Given the description of an element on the screen output the (x, y) to click on. 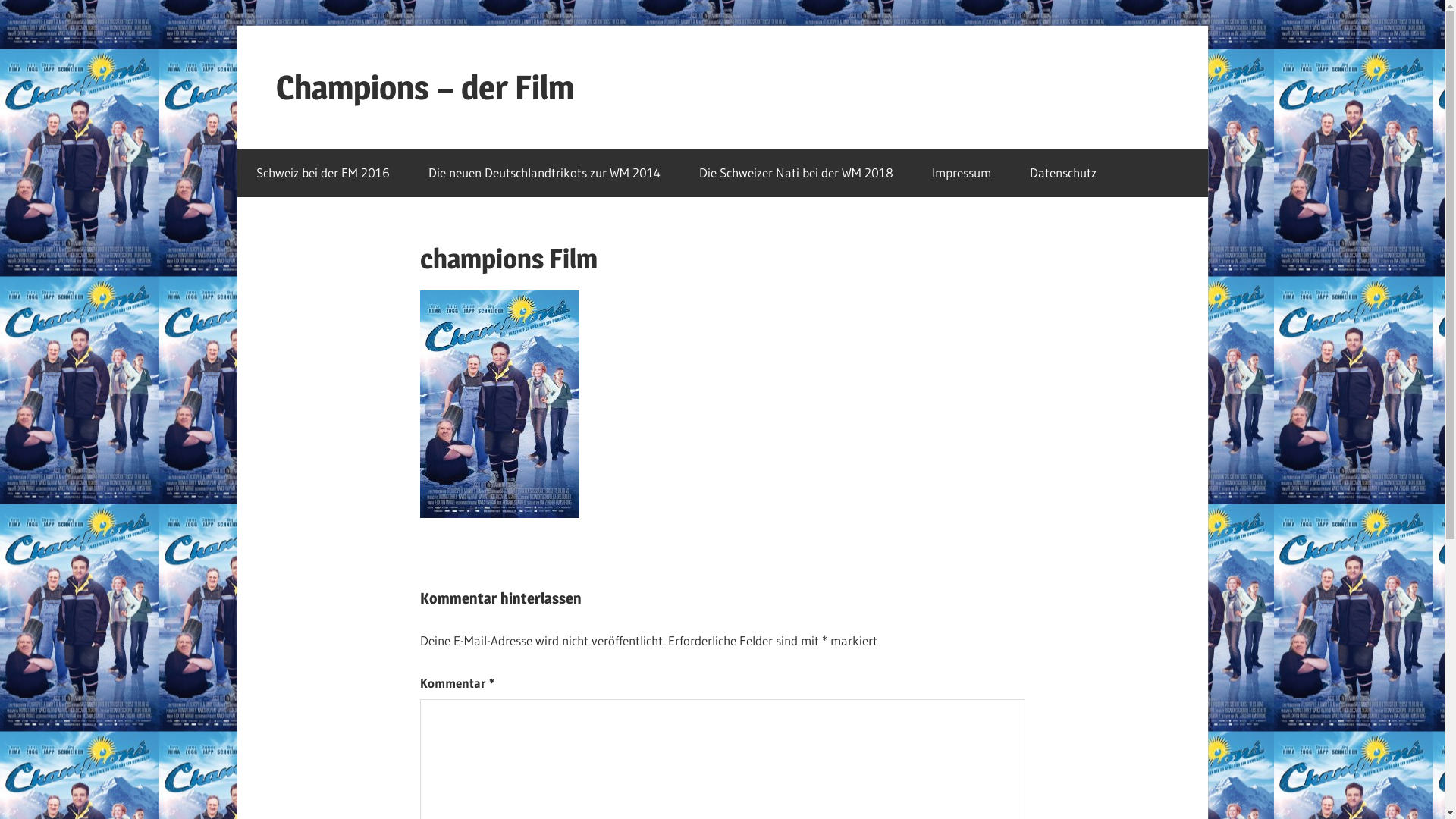
Impressum Element type: text (961, 172)
Zum Inhalt springen Element type: text (236, 25)
Die neuen Deutschlandtrikots zur WM 2014 Element type: text (544, 172)
Die Schweizer Nati bei der WM 2018 Element type: text (795, 172)
Datenschutz Element type: text (1062, 172)
Schweiz bei der EM 2016 Element type: text (322, 172)
